Given the description of an element on the screen output the (x, y) to click on. 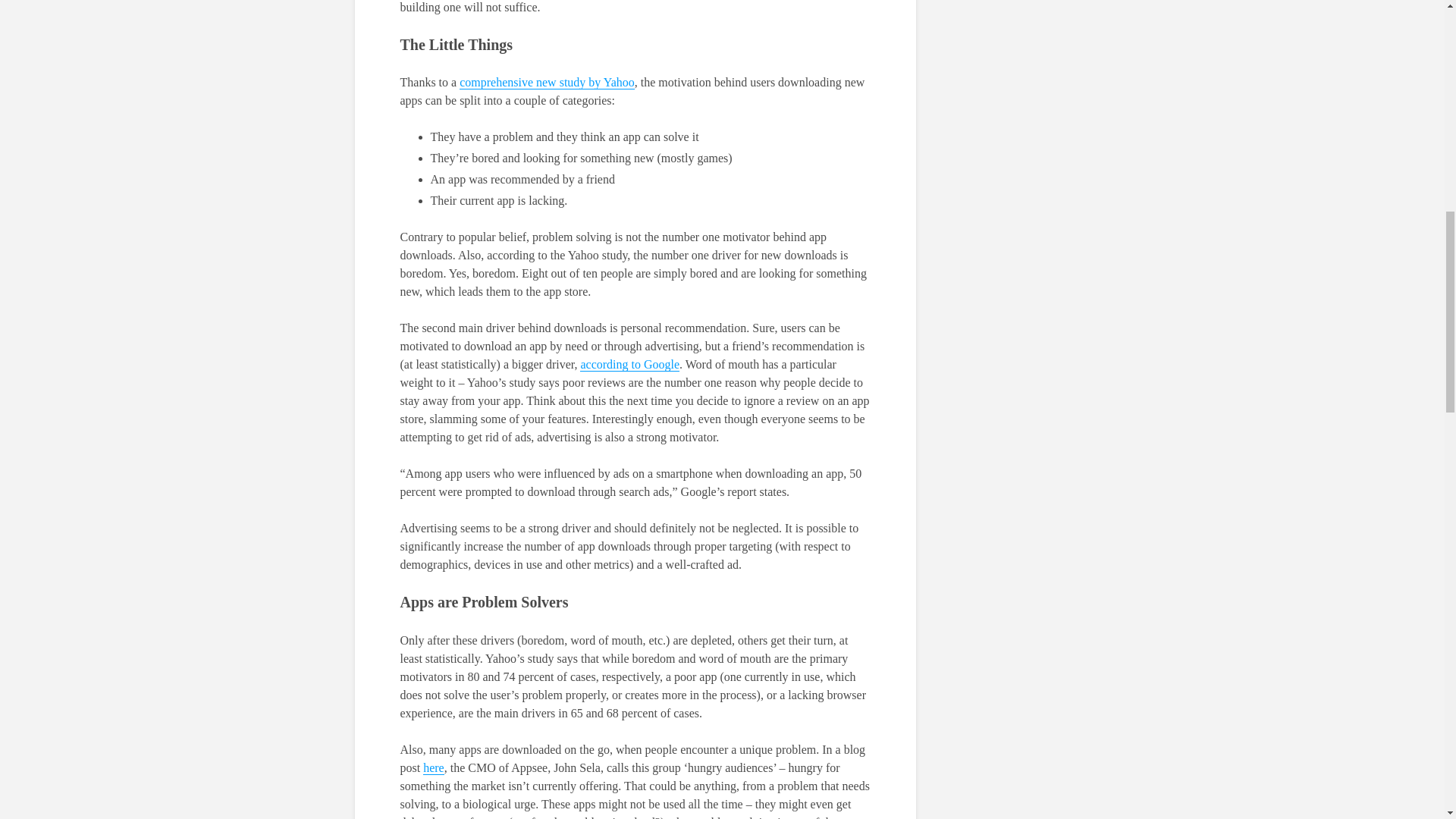
according to Google (629, 364)
comprehensive new study by Yahoo (547, 82)
here (433, 767)
